Given the description of an element on the screen output the (x, y) to click on. 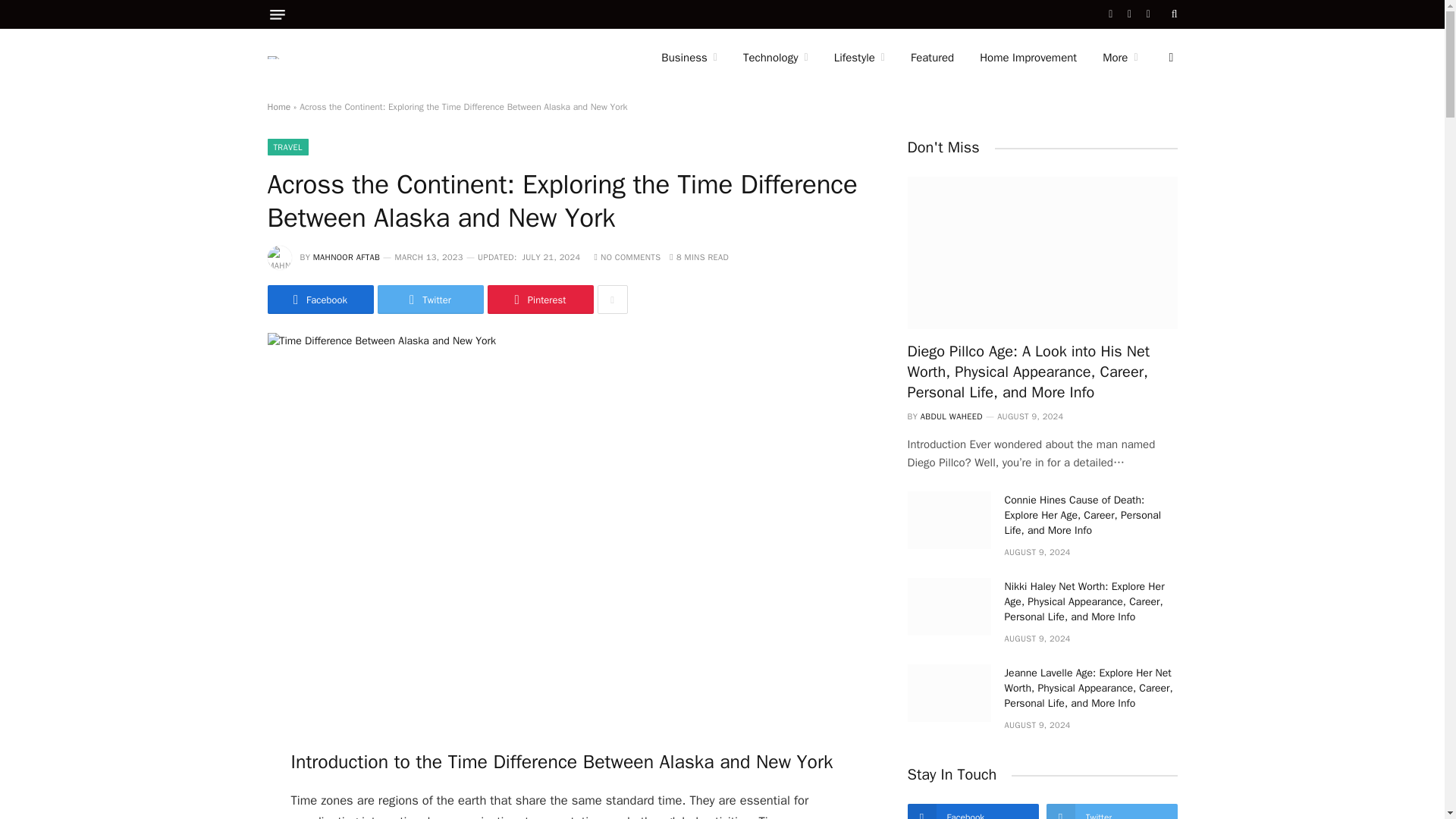
Home Improvement (1027, 57)
More (1119, 57)
Technology (775, 57)
Share on Facebook (319, 299)
Show More Social Sharing (611, 299)
Share on Pinterest (539, 299)
Featured (932, 57)
Posts by Mahnoor Aftab (346, 256)
Switch to Dark Design - easier on eyes. (1169, 57)
